Given the description of an element on the screen output the (x, y) to click on. 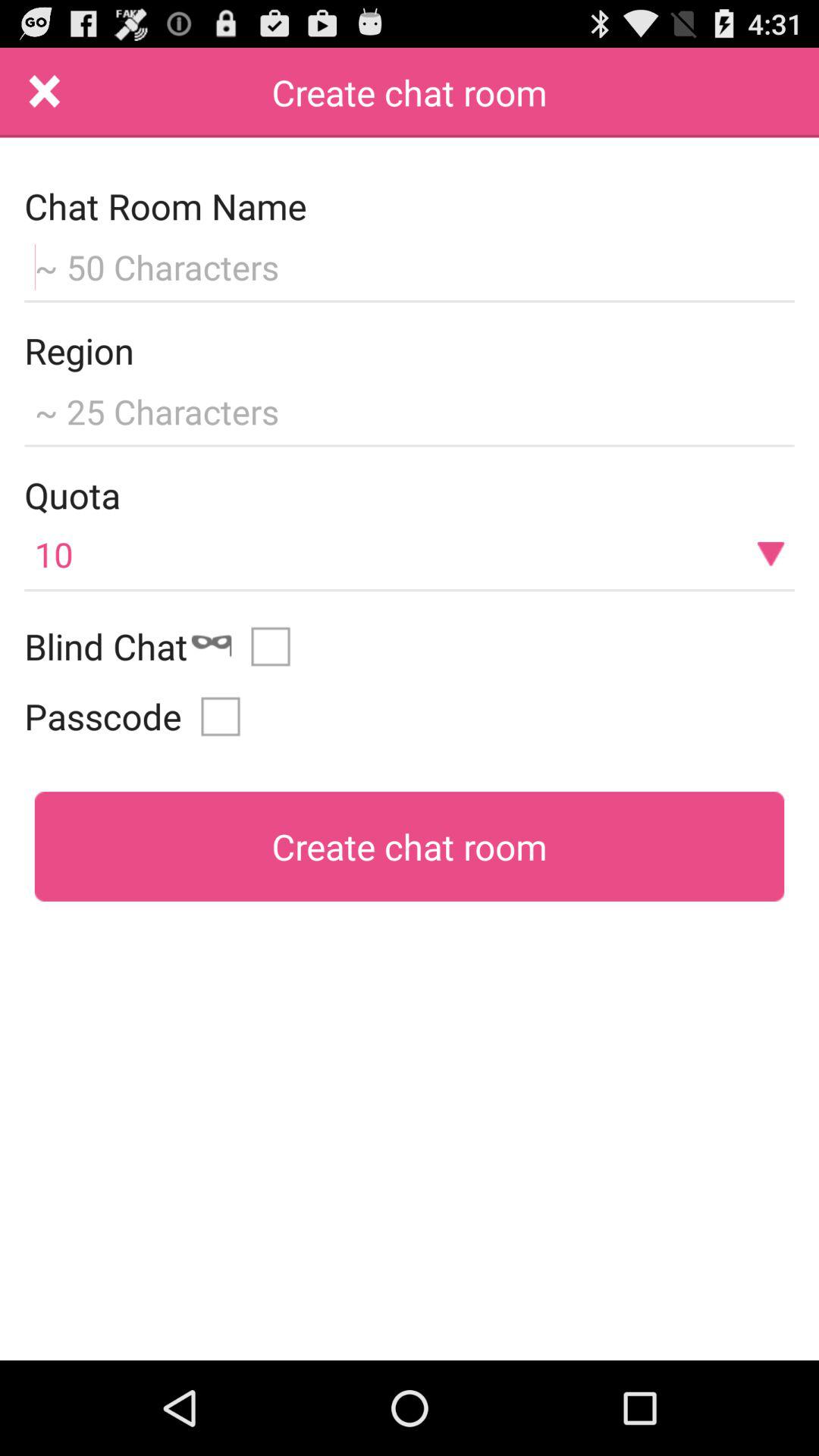
exit (44, 92)
